Given the description of an element on the screen output the (x, y) to click on. 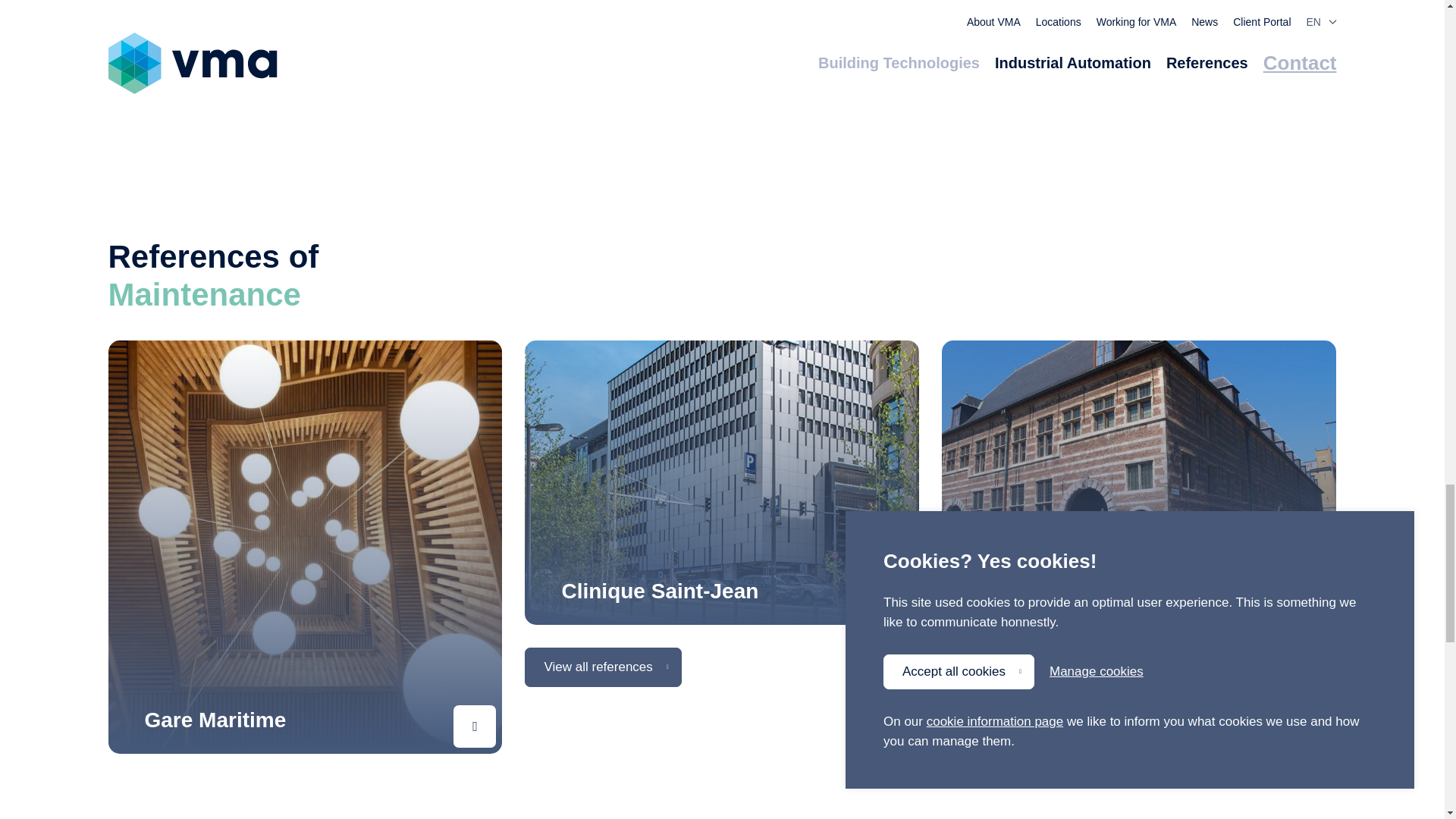
Stad Antwerpen (1058, 590)
View all references (602, 667)
Gare Maritime (214, 720)
Clinique Saint-Jean (659, 590)
